Given the description of an element on the screen output the (x, y) to click on. 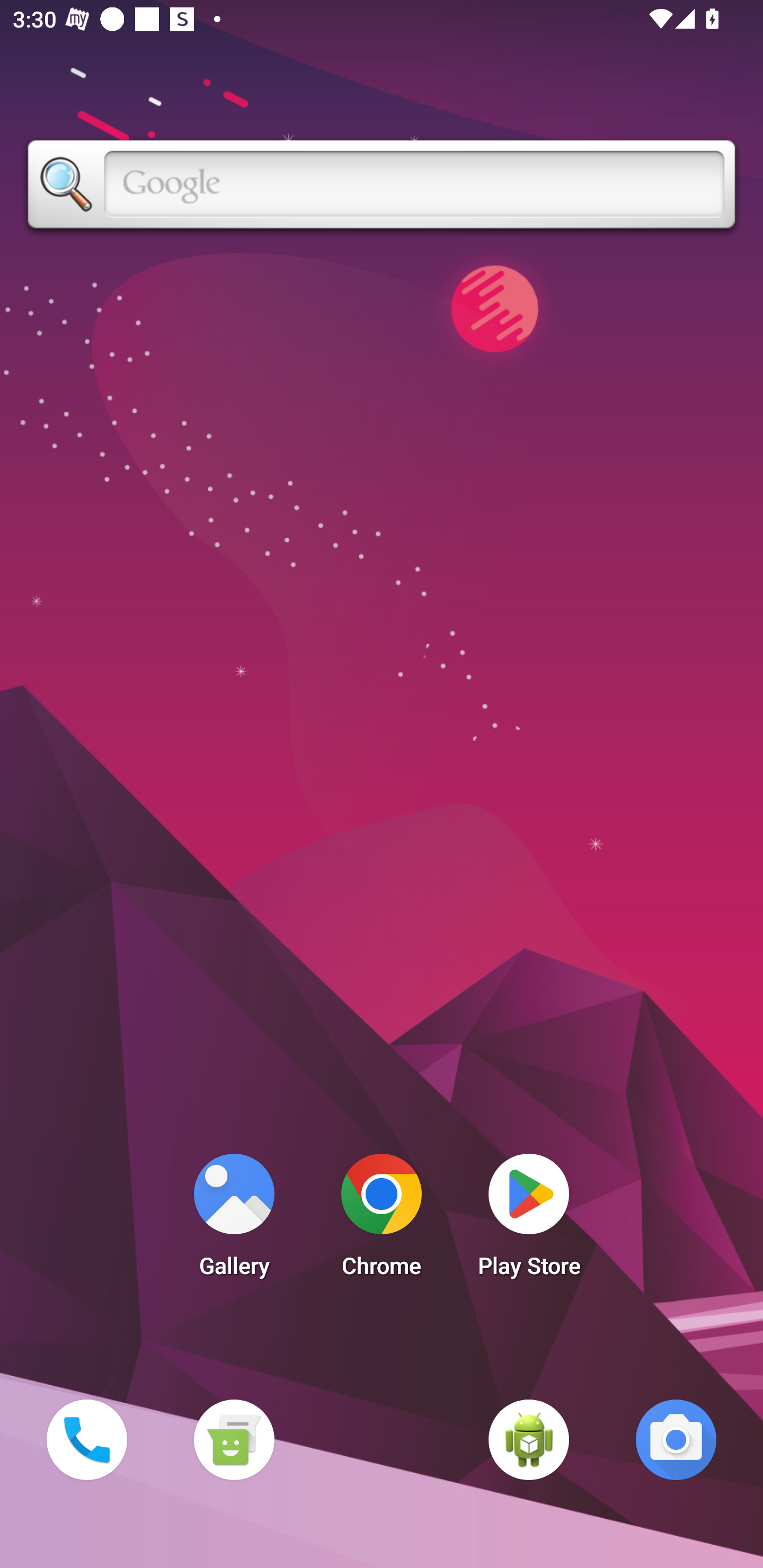
Gallery (233, 1220)
Chrome (381, 1220)
Play Store (528, 1220)
Phone (86, 1439)
Messaging (233, 1439)
WebView Browser Tester (528, 1439)
Camera (676, 1439)
